Given the description of an element on the screen output the (x, y) to click on. 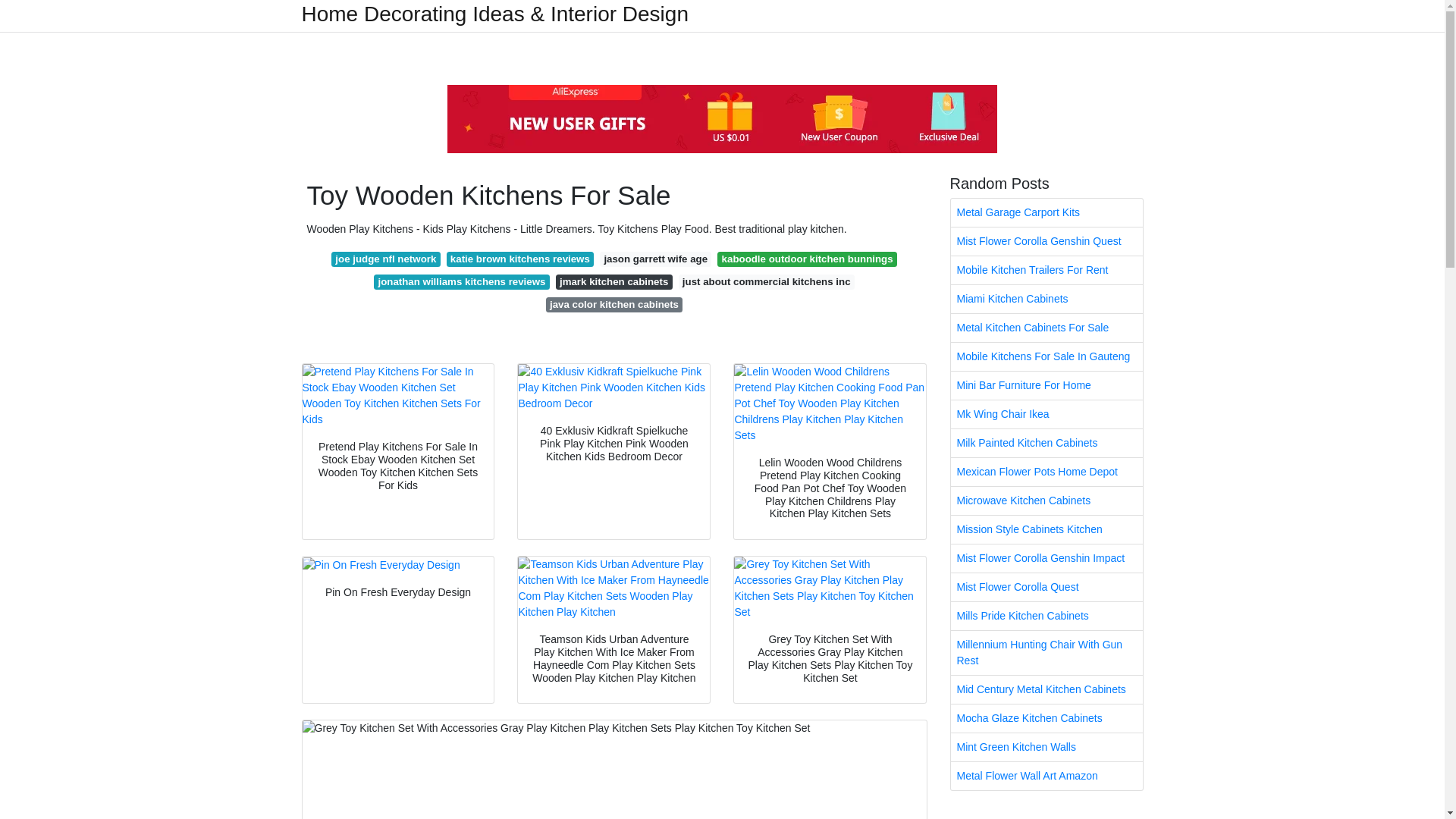
Mobile Kitchen Trailers For Rent (1046, 270)
Metal Garage Carport Kits (1046, 212)
java color kitchen cabinets (614, 304)
jason garrett wife age (655, 258)
kaboodle outdoor kitchen bunnings (806, 258)
jonathan williams kitchens reviews (462, 281)
Metal Kitchen Cabinets For Sale (1046, 327)
Miami Kitchen Cabinets (1046, 298)
Milk Painted Kitchen Cabinets (1046, 443)
Mobile Kitchens For Sale In Gauteng (1046, 357)
